Given the description of an element on the screen output the (x, y) to click on. 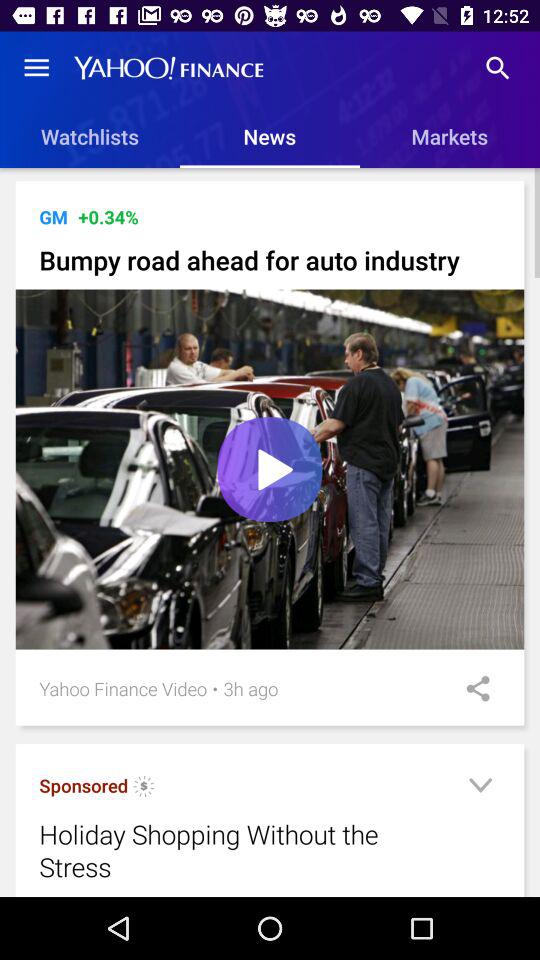
choose the sponsored item (83, 785)
